Given the description of an element on the screen output the (x, y) to click on. 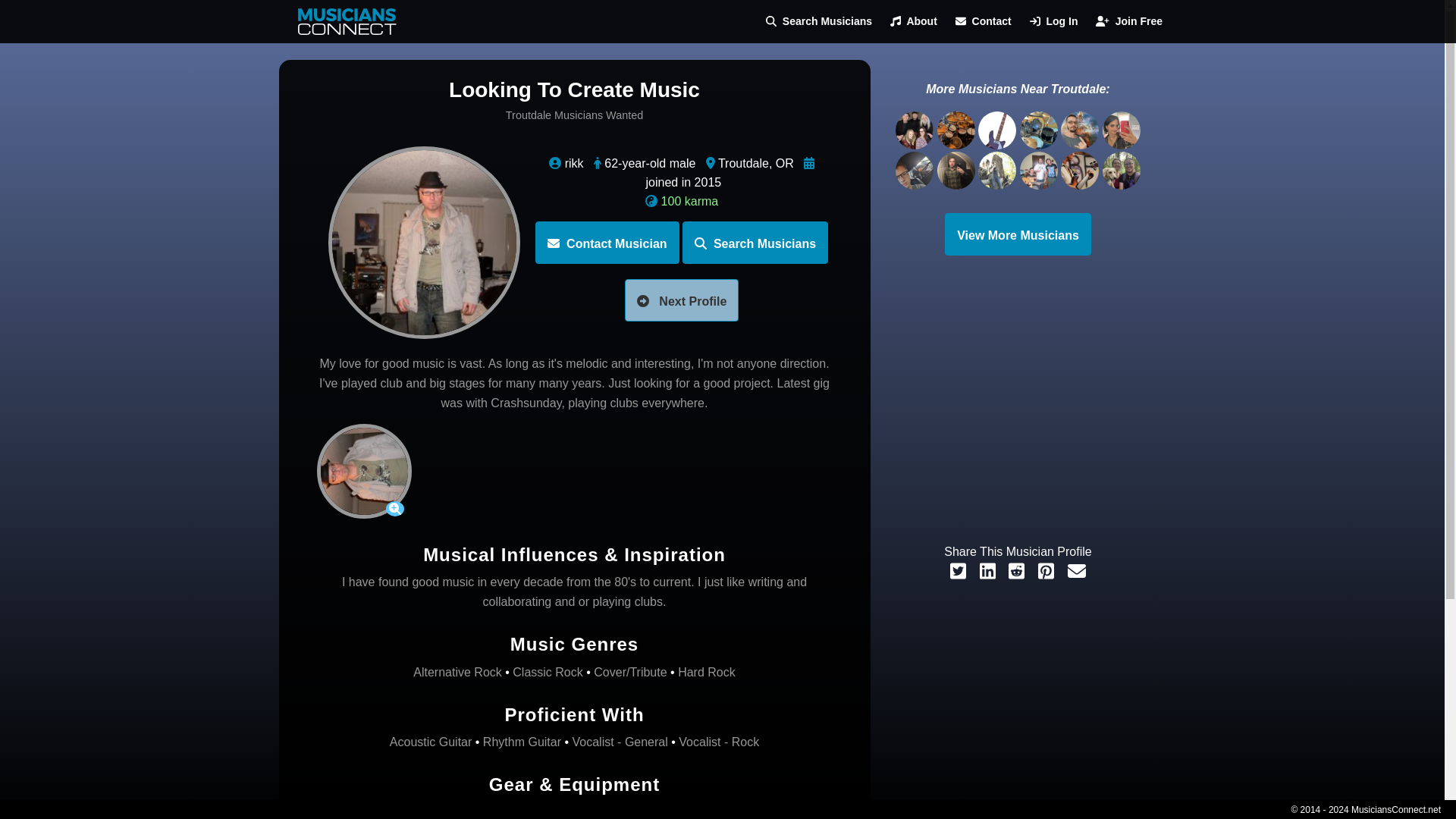
Search for local musicians near you (818, 21)
Bass player available for rock band. (998, 129)
Rhythm Guitar (521, 741)
  Search Musicians (818, 21)
  Contact (983, 21)
View More Musicians (1017, 233)
Troutdale, OR (755, 163)
Drummer-Percussionist looking (1040, 129)
Older drummer looking for classic rock band (957, 129)
Joni Mitchell Band seeks Lead Guitar Player! (915, 129)
